Given the description of an element on the screen output the (x, y) to click on. 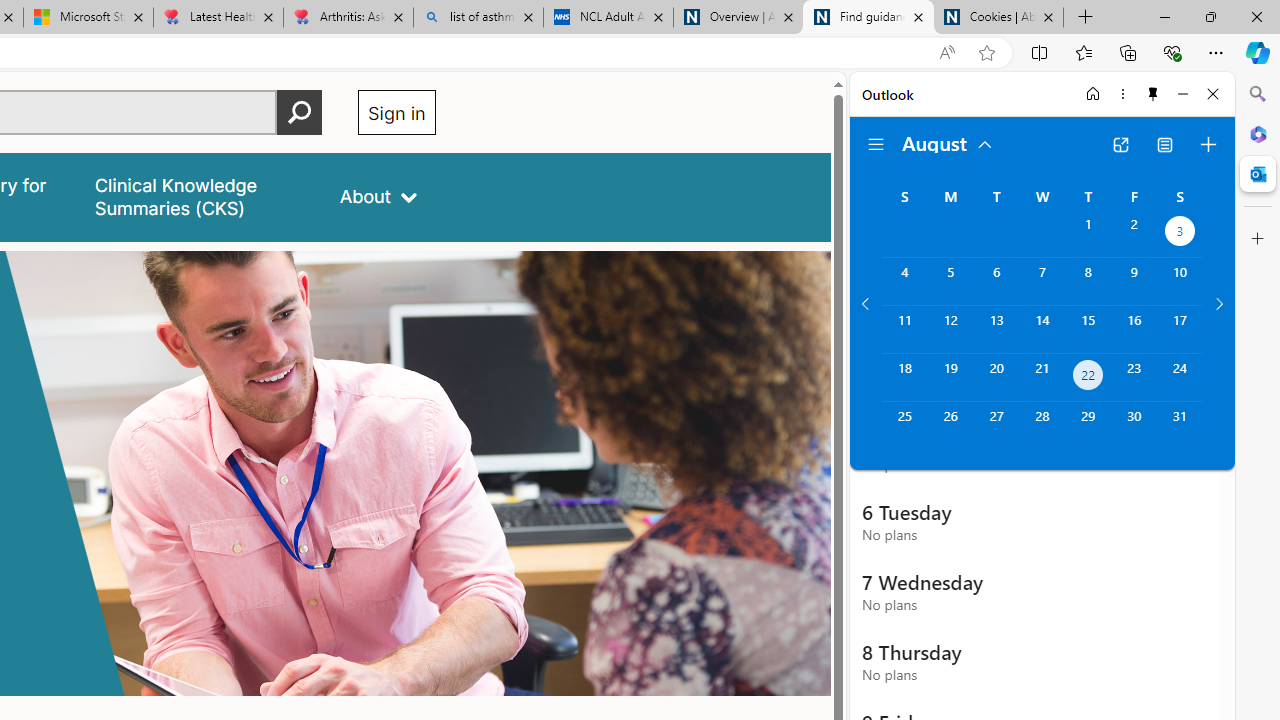
Saturday, August 31, 2024.  (1180, 425)
Tuesday, August 6, 2024.  (996, 281)
Thursday, August 1, 2024.  (1088, 233)
Friday, August 30, 2024.  (1134, 425)
Friday, August 23, 2024.  (1134, 377)
